Given the description of an element on the screen output the (x, y) to click on. 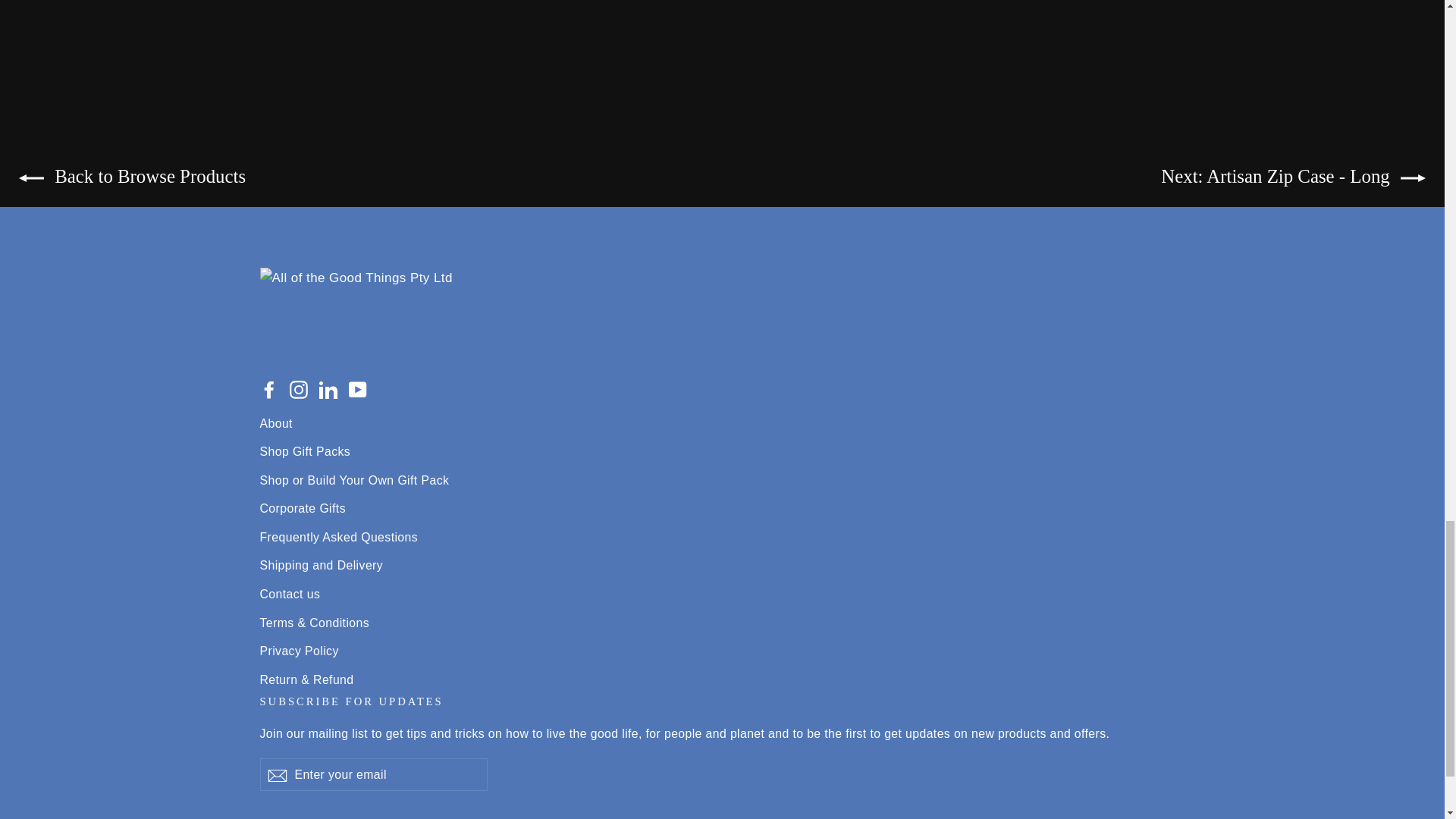
All of the Good Things Pty Ltd on Instagram (298, 389)
All of the Good Things Pty Ltd on YouTube (357, 389)
All of the Good Things Pty Ltd on LinkedIn (327, 389)
